Given the description of an element on the screen output the (x, y) to click on. 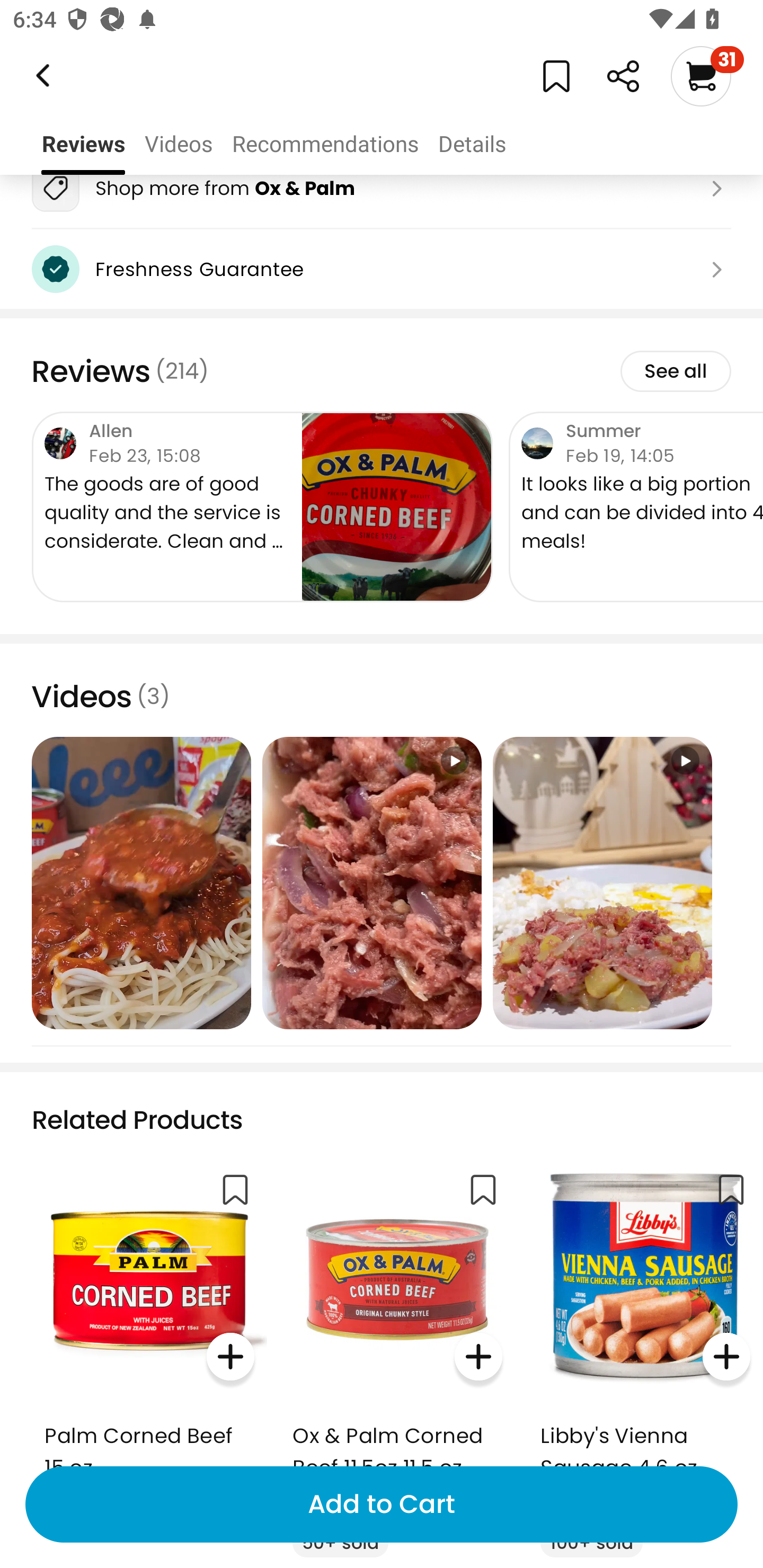
Weee! (41, 75)
31 (706, 75)
Weee! (623, 75)
Reviews (83, 144)
Videos (178, 144)
Recommendations (325, 144)
Details (471, 144)
Shop more from Ox & Palm Weee! (381, 187)
Freshness Guarantee (381, 268)
Reviews (214) See all (381, 370)
Palm Corned Beef 15 oz $10.99 (149, 1341)
Libby's Vienna Sausage 4.6 oz $1.19 100+ sold (645, 1357)
Add to Cart (381, 1504)
Add to Cart (381, 1504)
